Given the description of an element on the screen output the (x, y) to click on. 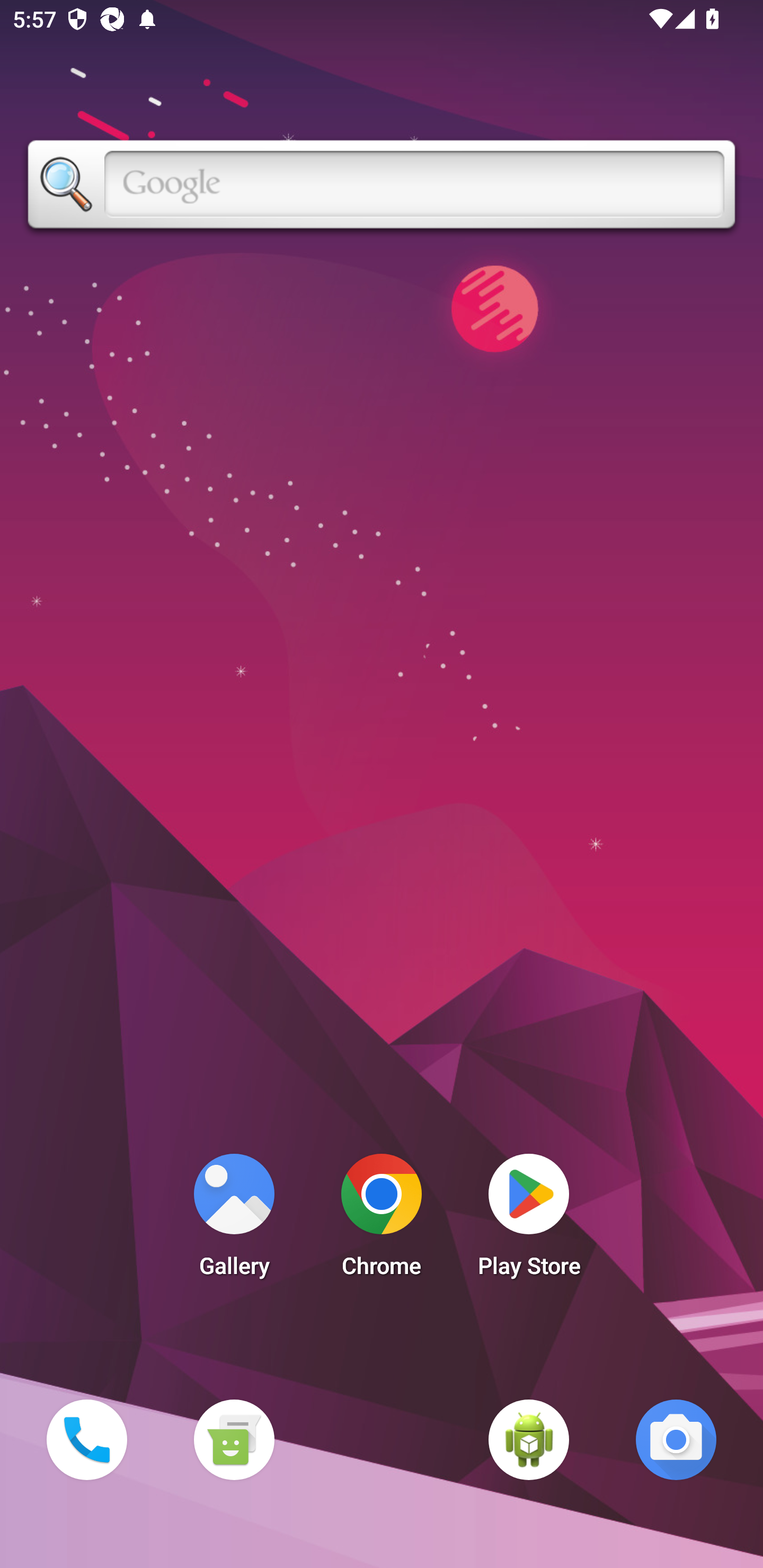
Gallery (233, 1220)
Chrome (381, 1220)
Play Store (528, 1220)
Phone (86, 1439)
Messaging (233, 1439)
WebView Browser Tester (528, 1439)
Camera (676, 1439)
